Given the description of an element on the screen output the (x, y) to click on. 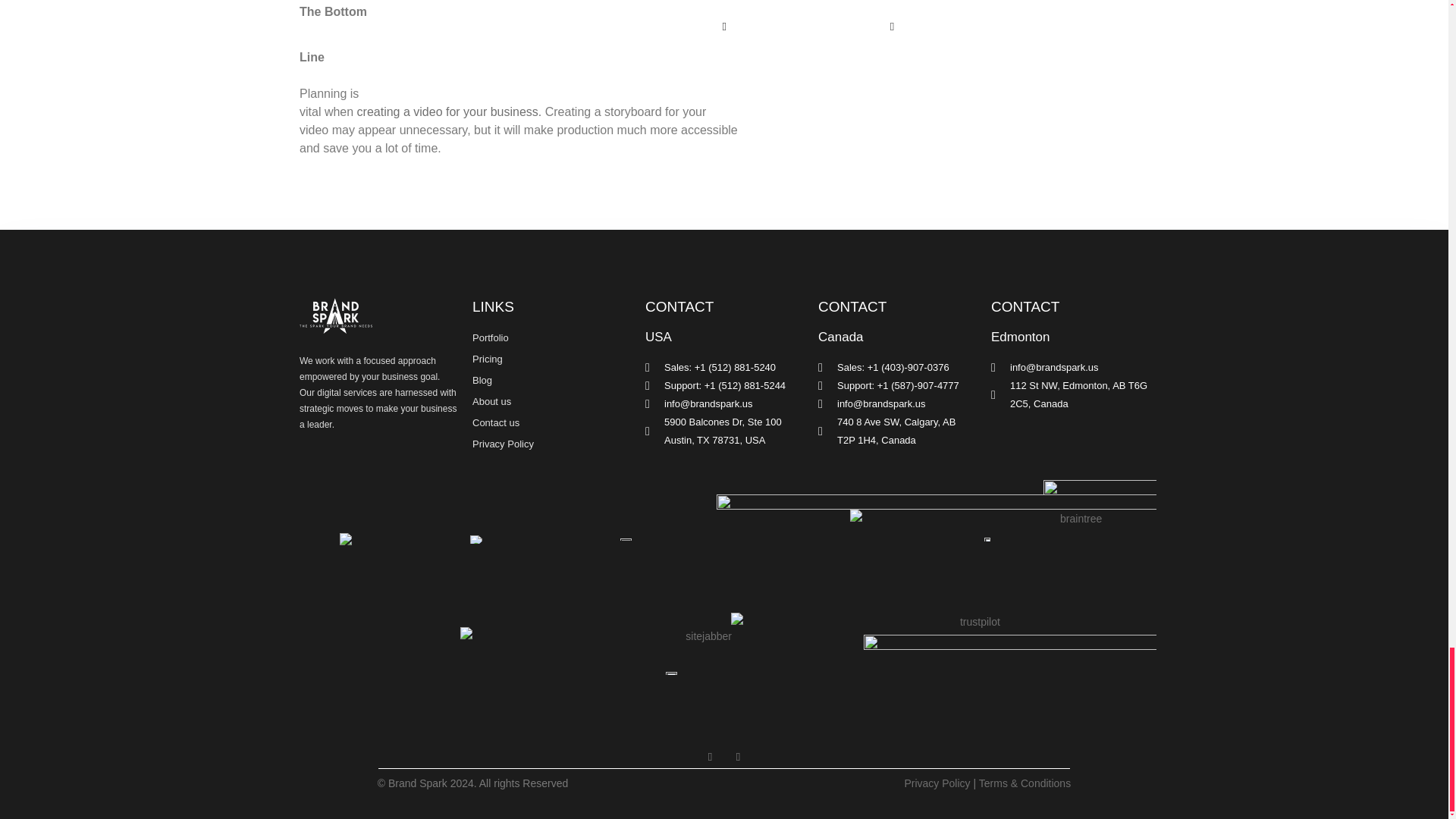
Blog (550, 380)
Contact us (550, 423)
Portfolio (550, 338)
About us (550, 402)
Privacy Policy (550, 443)
Pricing (550, 359)
creating a video for your business. (448, 111)
